Given the description of an element on the screen output the (x, y) to click on. 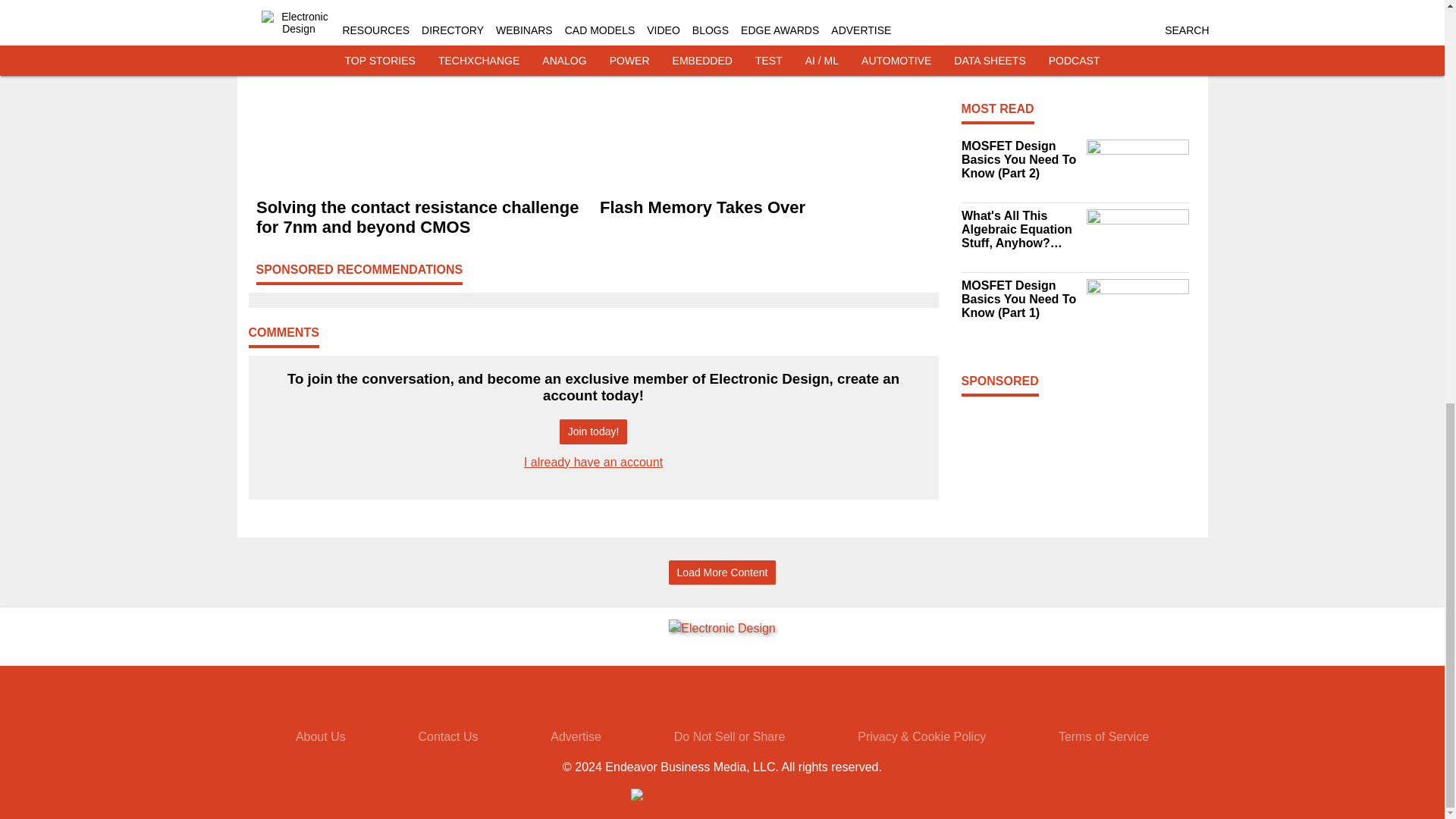
I already have an account (593, 461)
Join today! (593, 431)
Flash Memory Takes Over (764, 207)
